Given the description of an element on the screen output the (x, y) to click on. 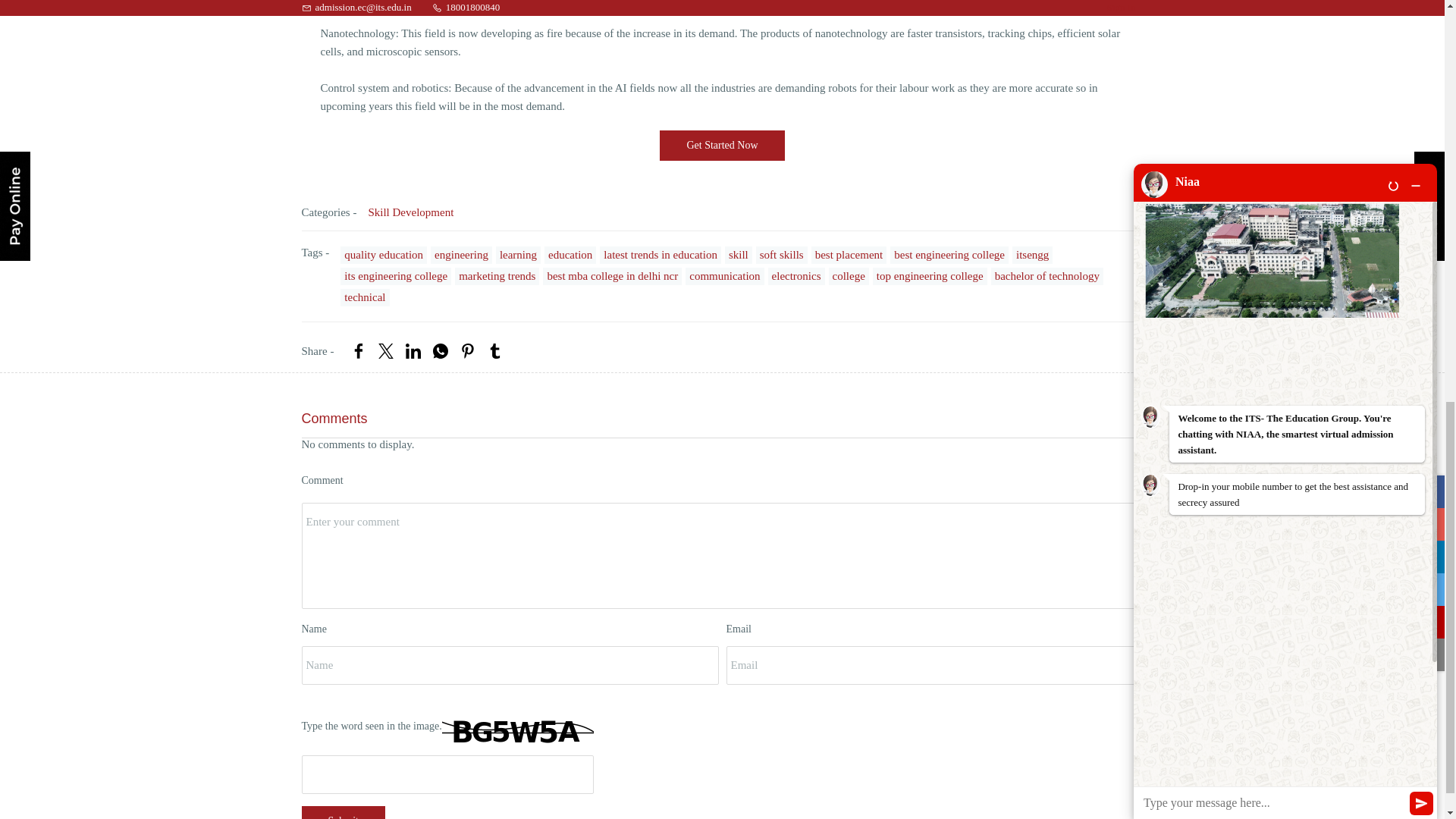
Pinterest (468, 350)
Facebook (358, 350)
WhatsApp (440, 350)
LinkedIn (413, 350)
Tumblr (494, 350)
Twitter (385, 350)
